Given the description of an element on the screen output the (x, y) to click on. 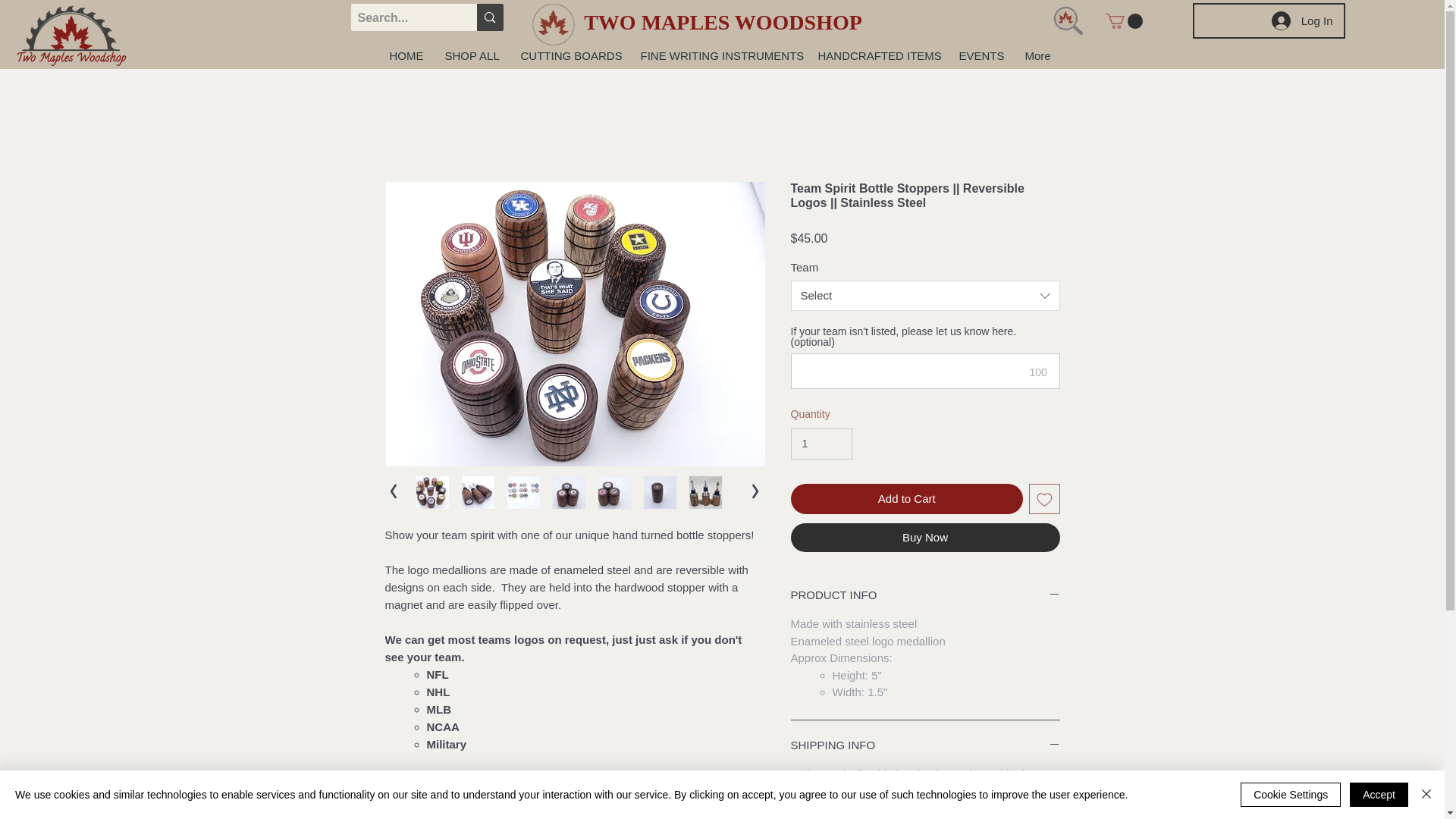
1 (820, 443)
TWO MAPLES WOODSHOP (722, 22)
HANDCRAFTED ITEMS (876, 55)
SHOP ALL (471, 55)
Log In (1301, 20)
CUTTING BOARDS (568, 55)
HOME (404, 55)
EVENTS (980, 55)
FINE WRITING INSTRUMENTS (717, 55)
